Given the description of an element on the screen output the (x, y) to click on. 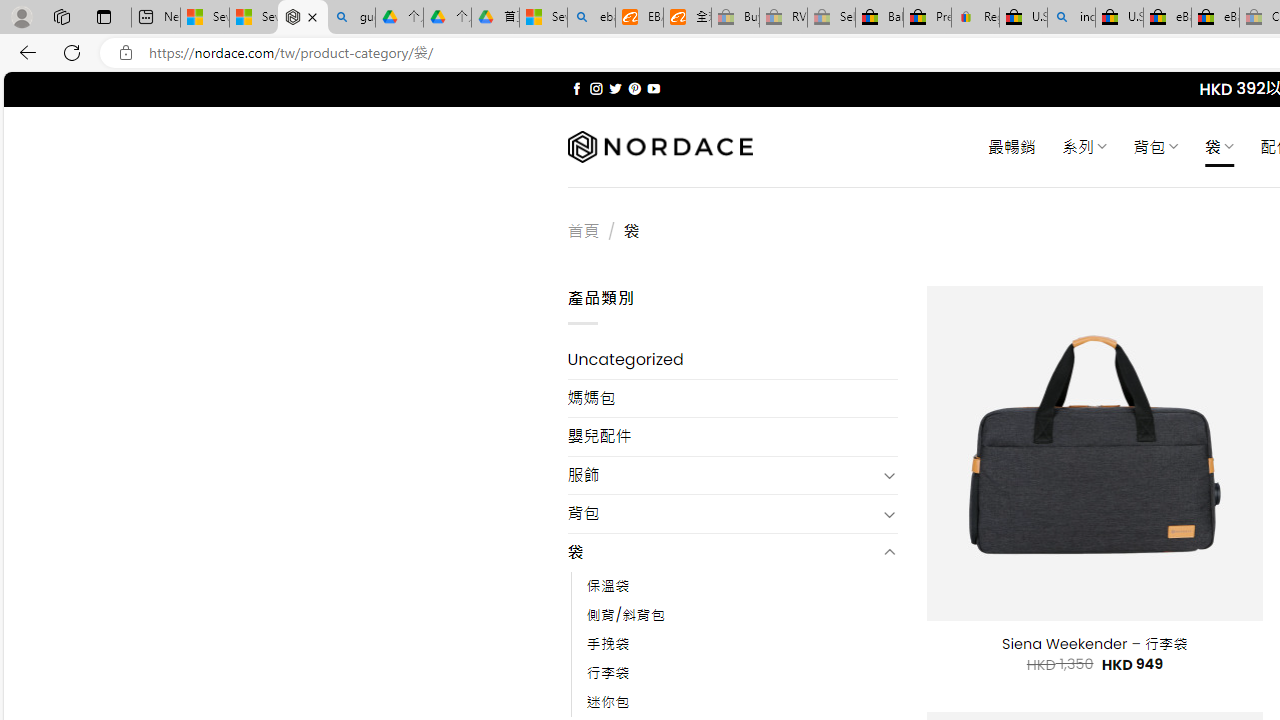
Follow on Pinterest (634, 88)
Baby Keepsakes & Announcements for sale | eBay (879, 17)
Follow on Twitter (615, 88)
Press Room - eBay Inc. (927, 17)
Uncategorized (732, 359)
